Given the description of an element on the screen output the (x, y) to click on. 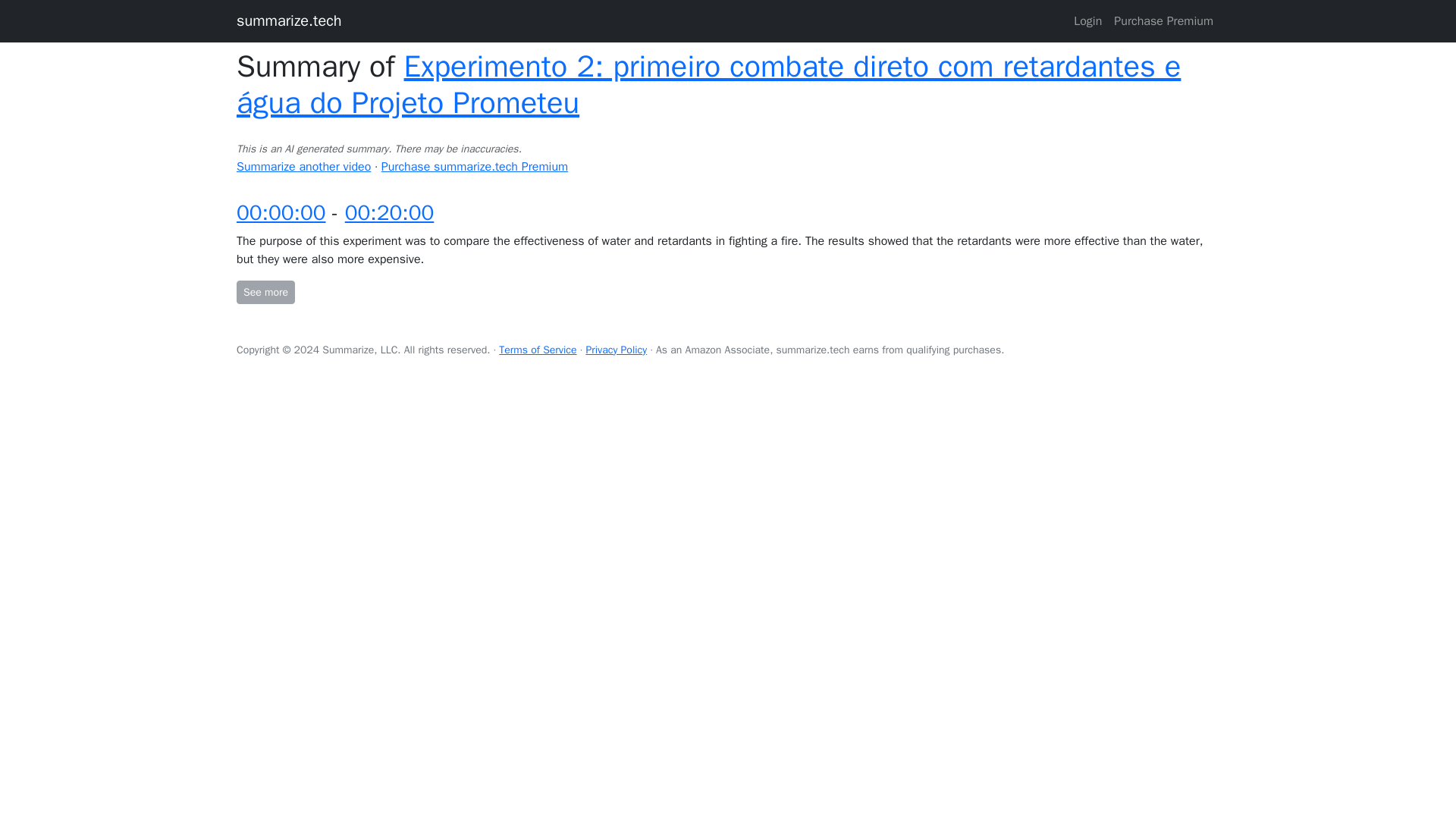
Purchase Premium (1164, 20)
summarize.tech (288, 20)
Terms of Service (537, 349)
00:00:00 (280, 212)
Summarize another video (303, 166)
00:20:00 (389, 212)
Purchase summarize.tech Premium (474, 166)
Privacy Policy (615, 349)
See more (265, 291)
Login (1087, 20)
